Given the description of an element on the screen output the (x, y) to click on. 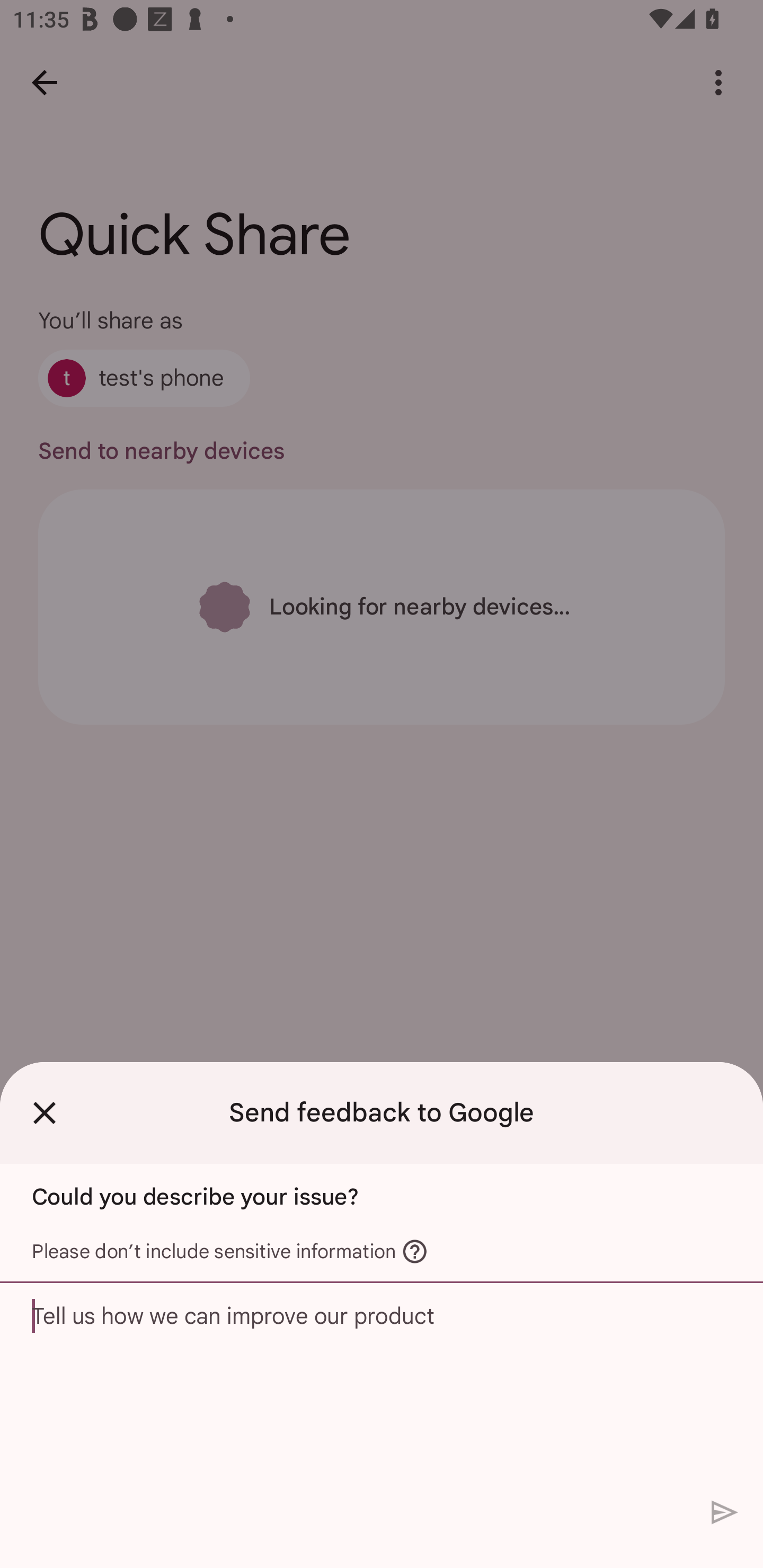
Close Feedback (44, 1112)
Tell us how we can improve our product (381, 1385)
Submit the feedback that you entered (724, 1512)
